Given the description of an element on the screen output the (x, y) to click on. 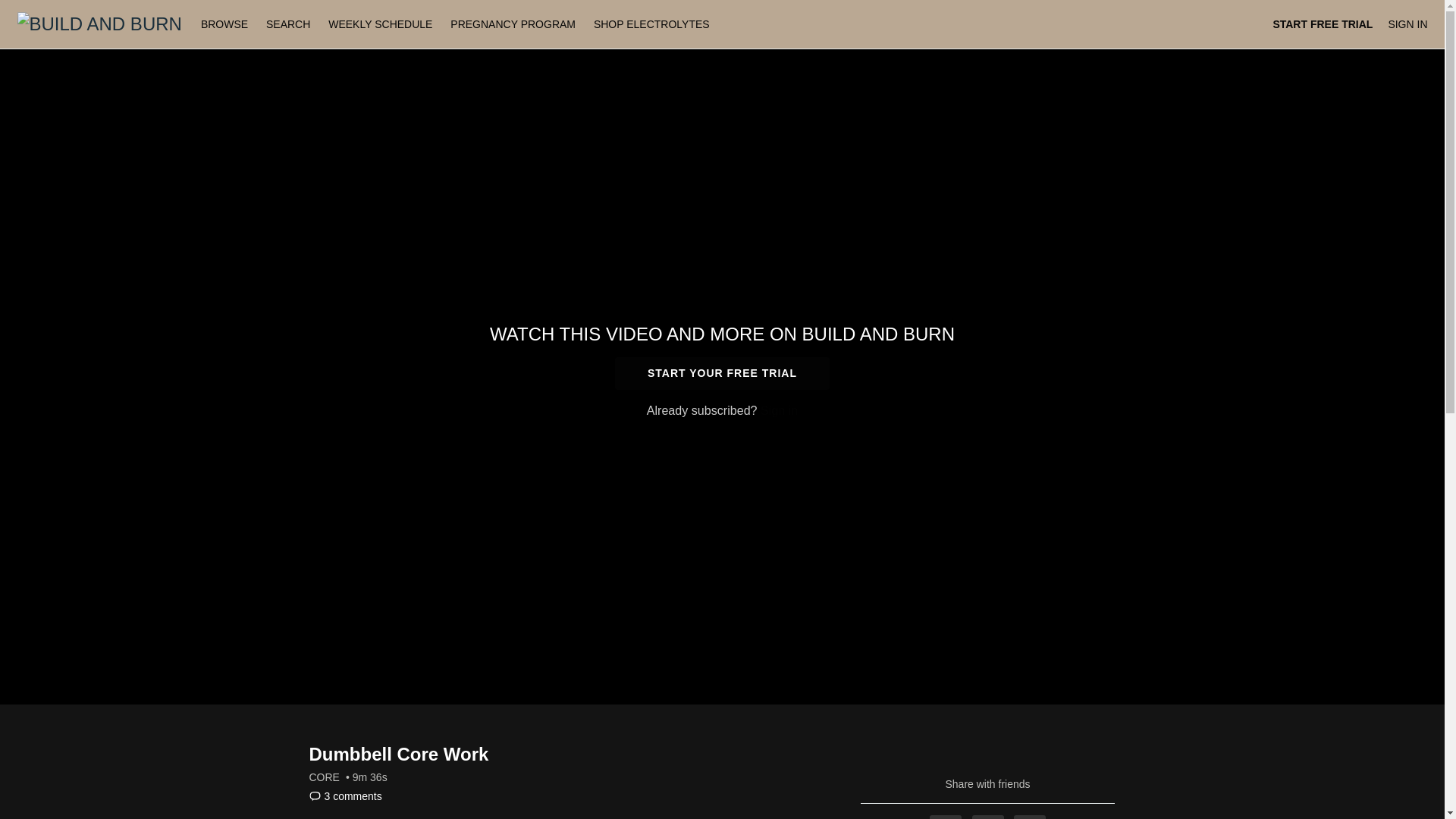
Facebook (945, 816)
Email (1029, 816)
SHOP ELECTROLYTES (651, 24)
START FREE TRIAL (1322, 24)
SIGN IN (1406, 24)
BROWSE (226, 24)
WEEKLY SCHEDULE (379, 24)
Sign in (778, 409)
PREGNANCY PROGRAM (512, 24)
Skip to main content (48, 7)
View Latest Comments (344, 796)
SEARCH (289, 24)
Twitter (988, 816)
START YOUR FREE TRIAL (721, 373)
3 comments (344, 796)
